Given the description of an element on the screen output the (x, y) to click on. 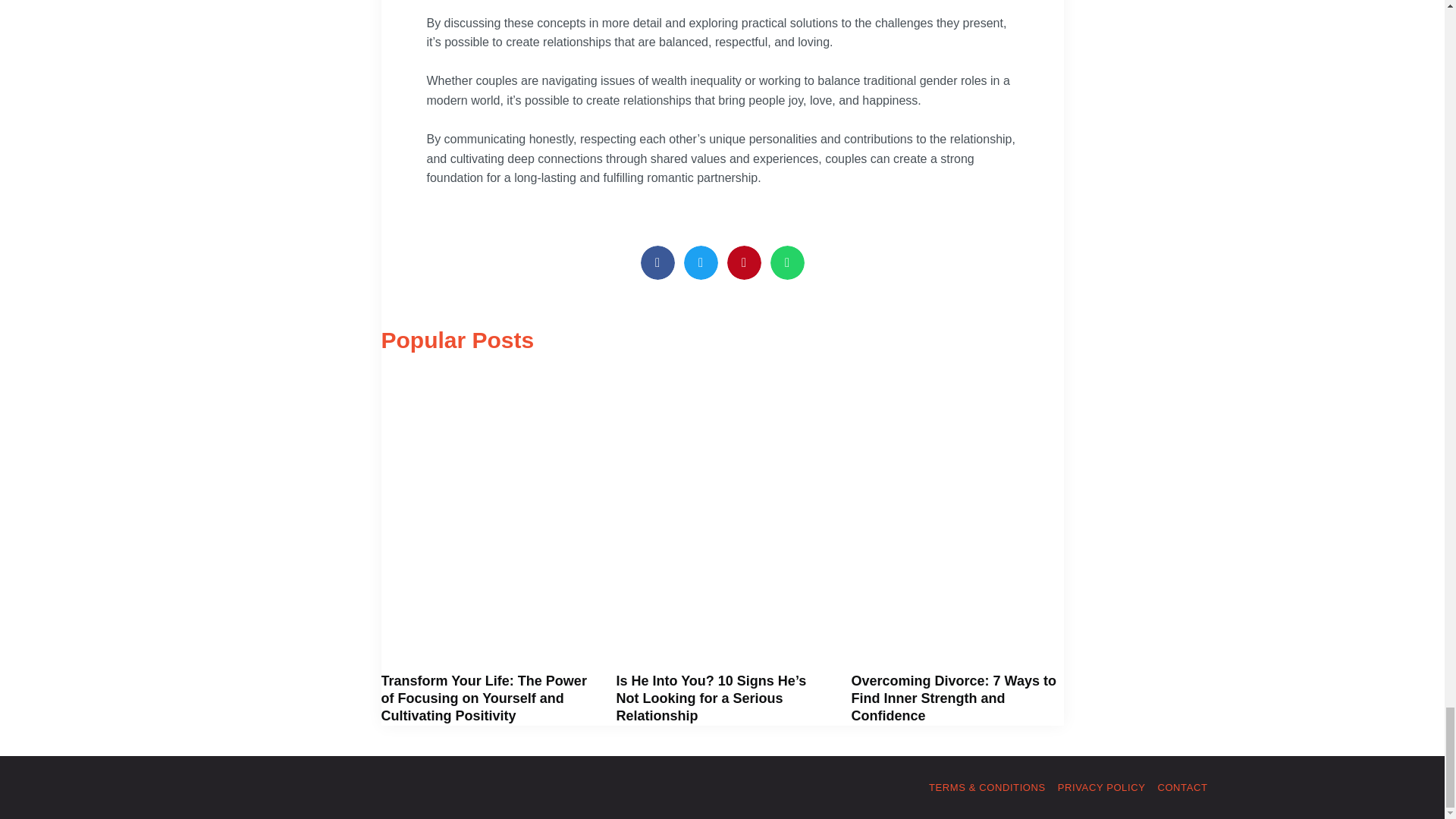
PRIVACY POLICY (1101, 787)
CONTACT (1182, 787)
